Given the description of an element on the screen output the (x, y) to click on. 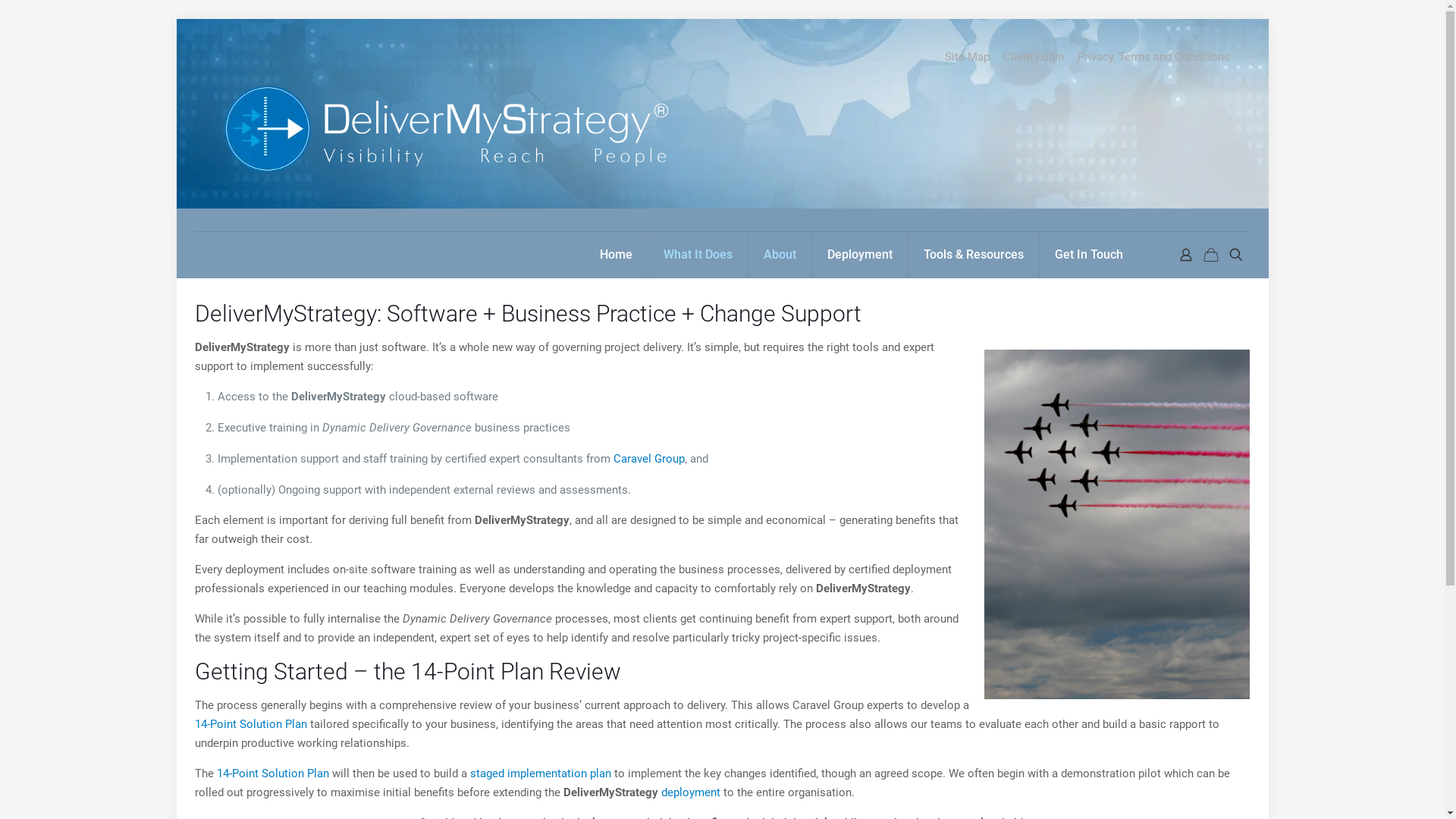
staged implementation plan Element type: text (540, 773)
Site Map Element type: text (966, 56)
About Element type: text (779, 254)
deployment Element type: text (690, 792)
What It Does Element type: text (697, 254)
Deliver My Strategy Element type: hover (442, 124)
Caravel Group Element type: text (648, 458)
14-Point Solution Plan Element type: text (272, 773)
Home Element type: text (615, 254)
Client Login Element type: text (1032, 56)
Deployment Element type: text (859, 254)
Get In Touch Element type: text (1087, 254)
14-Point Solution Plan Element type: text (250, 724)
Privacy, Terms and Conditions Element type: text (1152, 56)
Tools & Resources Element type: text (973, 254)
